Given the description of an element on the screen output the (x, y) to click on. 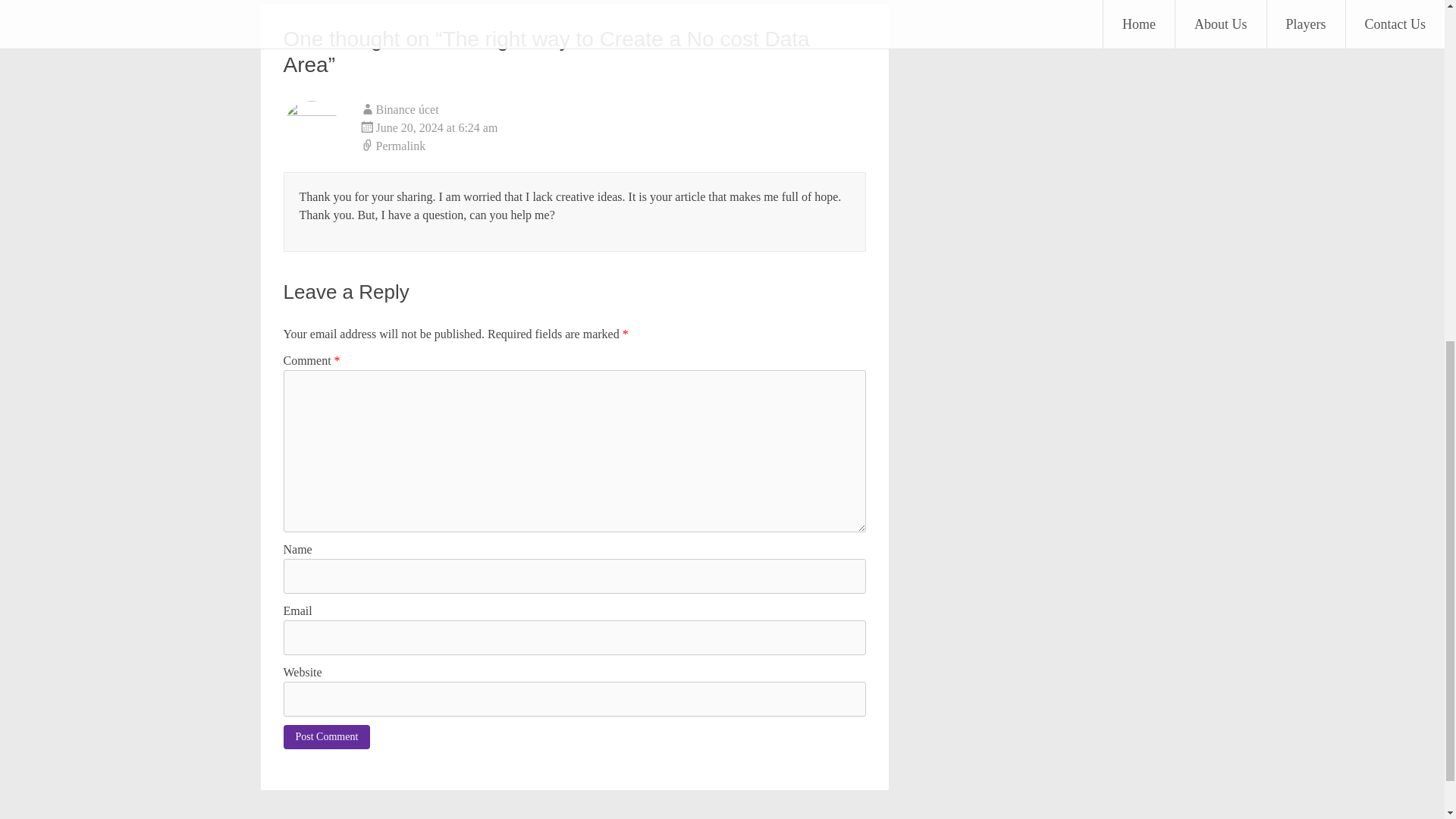
Permalink (612, 146)
Post Comment (327, 736)
Post Comment (327, 736)
